Given the description of an element on the screen output the (x, y) to click on. 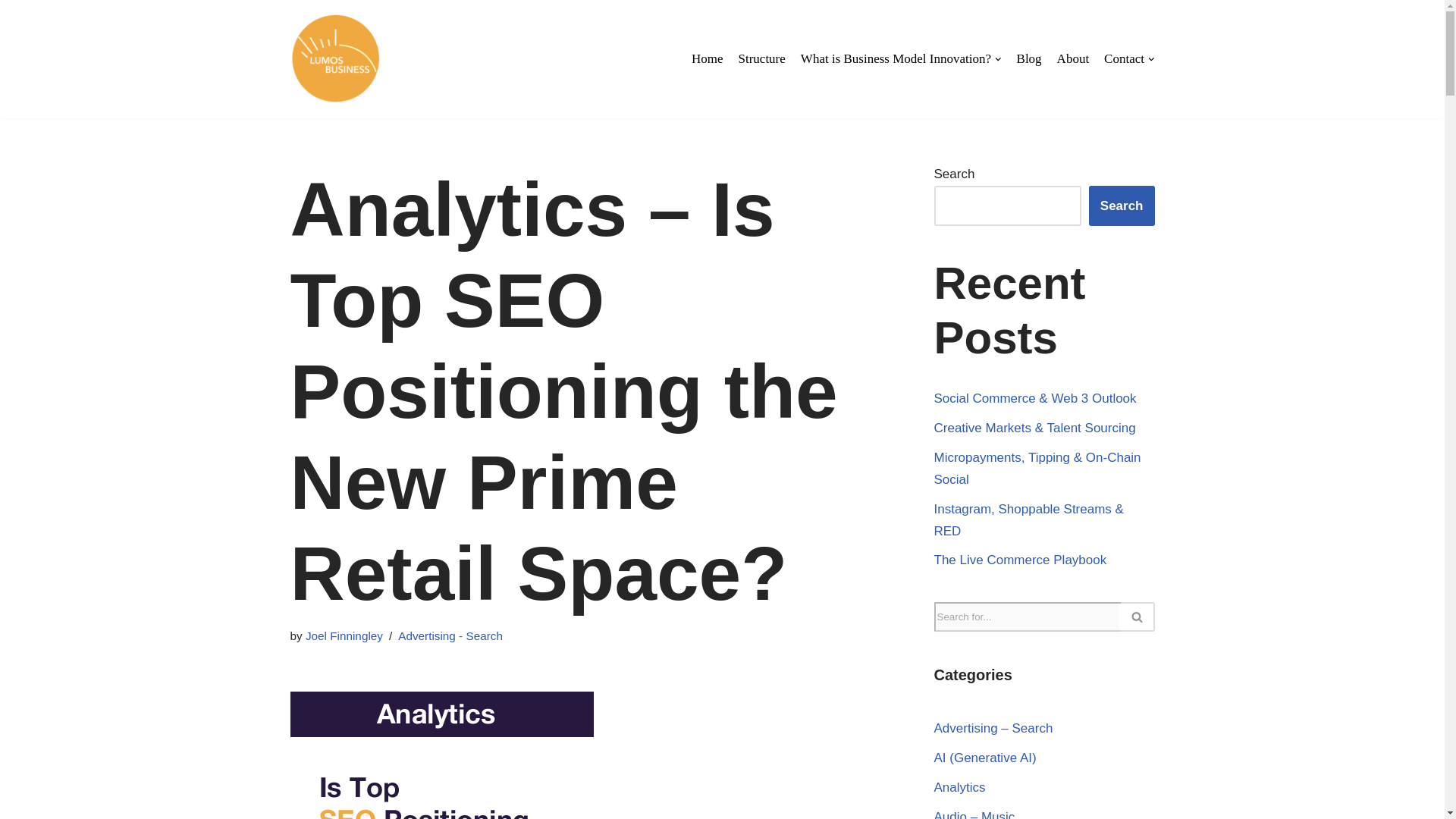
Contact (1128, 58)
Skip to content (11, 31)
Structure (762, 58)
Blog (1029, 58)
What is Business Model Innovation? (900, 58)
Home (707, 58)
Advertising - Search (449, 635)
Posts by Joel Finningley (343, 635)
About (1073, 58)
Business Models Innovation (334, 58)
Joel Finningley (343, 635)
